Given the description of an element on the screen output the (x, y) to click on. 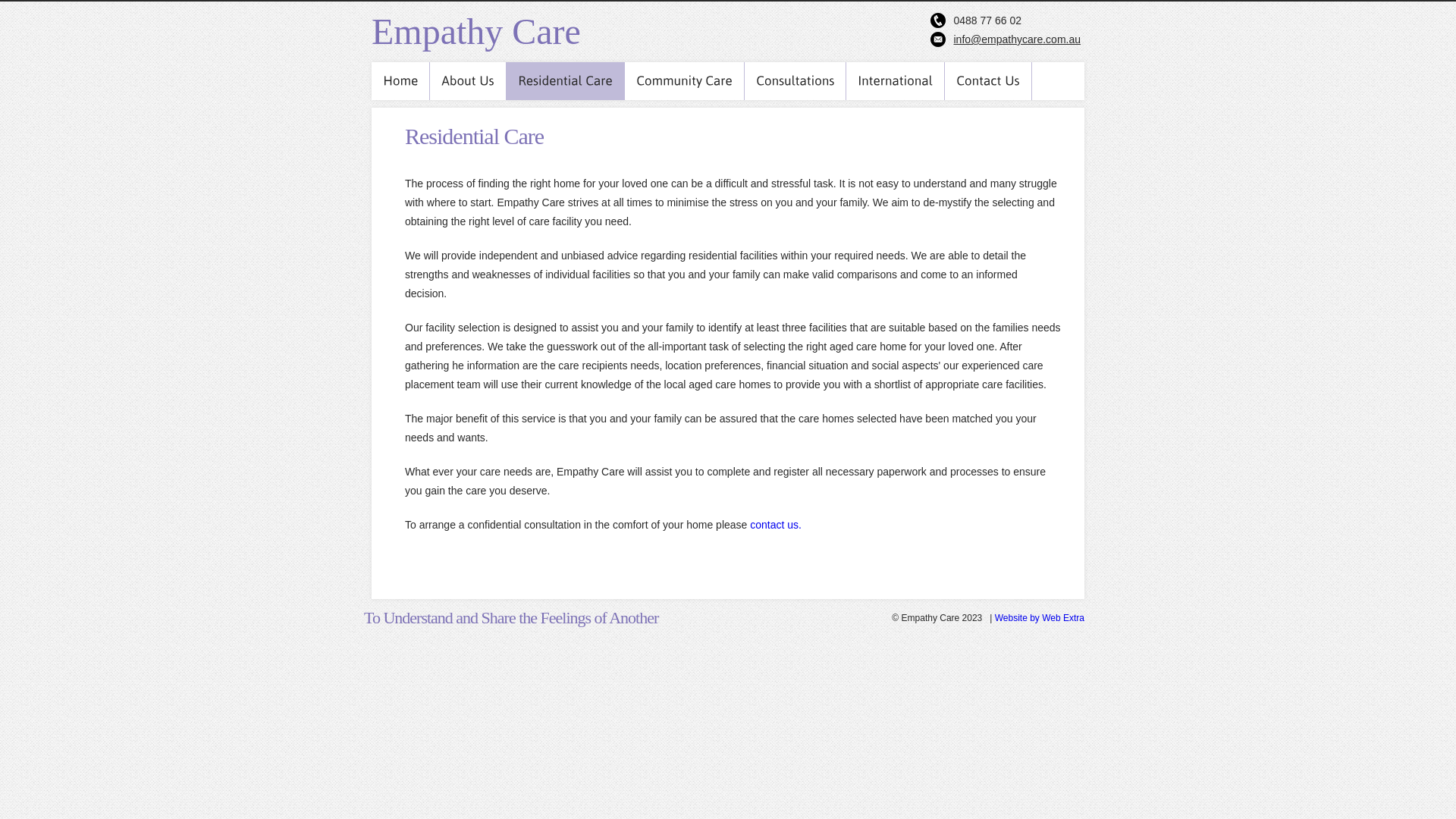
info@empathycare.com.au Element type: text (1016, 39)
contact us. Element type: text (775, 524)
Website by Web Extra Element type: text (1039, 617)
Empathy Care Element type: text (475, 31)
